Given the description of an element on the screen output the (x, y) to click on. 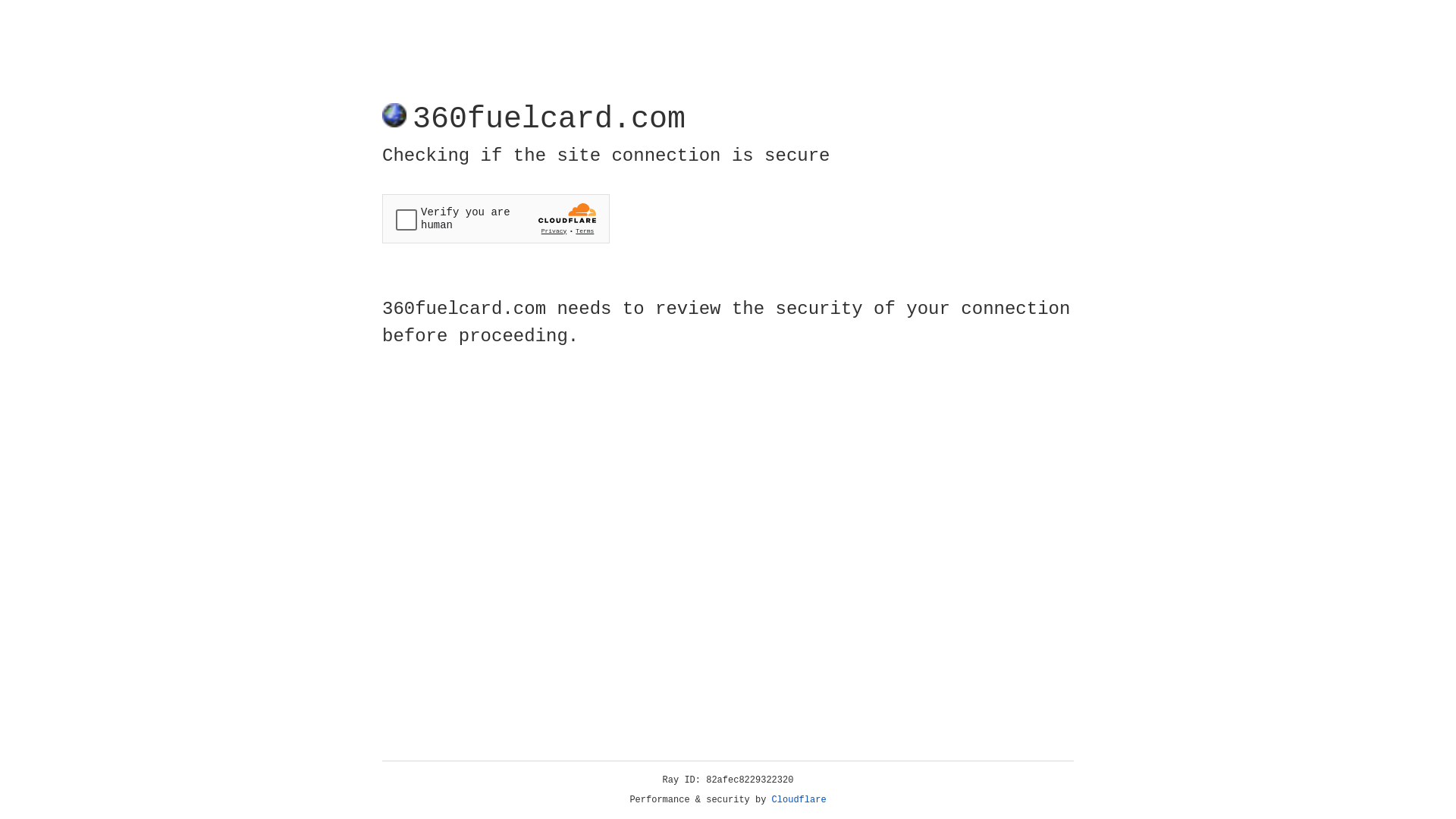
Widget containing a Cloudflare security challenge Element type: hover (495, 218)
Cloudflare Element type: text (798, 799)
